Given the description of an element on the screen output the (x, y) to click on. 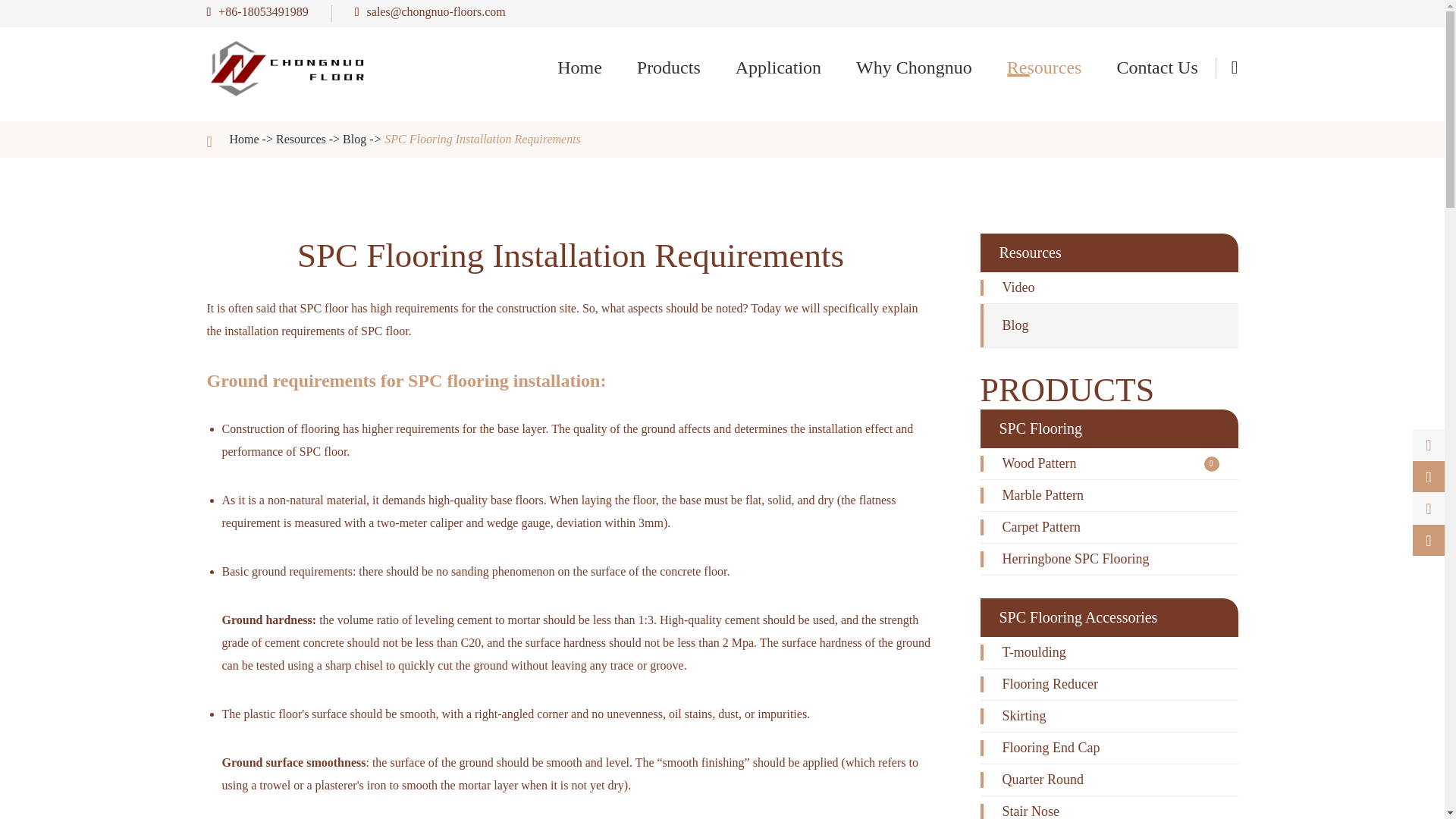
Contact Us (1156, 66)
Why Chongnuo (914, 66)
Video (1074, 125)
SPC Flooring Installation Requirements (482, 138)
Resources (301, 138)
SPC Flooring (715, 125)
Application (778, 66)
Living Room (803, 125)
Products (668, 66)
Home (579, 66)
Blog (354, 138)
Resources (1044, 66)
